Given the description of an element on the screen output the (x, y) to click on. 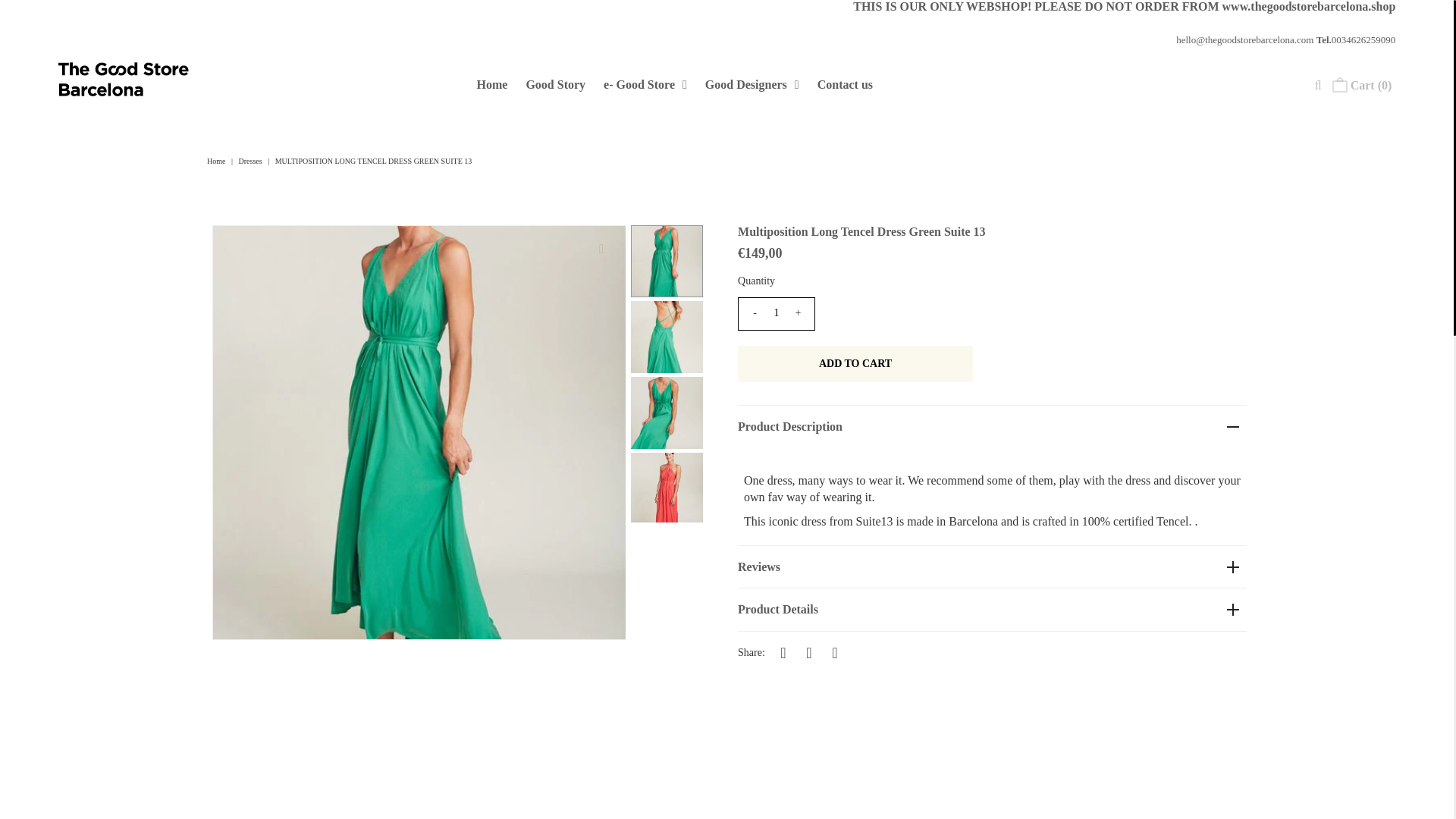
Share on Twitter (809, 651)
Dresses (252, 161)
Home (217, 161)
Share on Pinterest (834, 651)
1 (776, 313)
click to zoom-in (601, 249)
Add to Cart (855, 363)
Share on Facebook (782, 651)
